Given the description of an element on the screen output the (x, y) to click on. 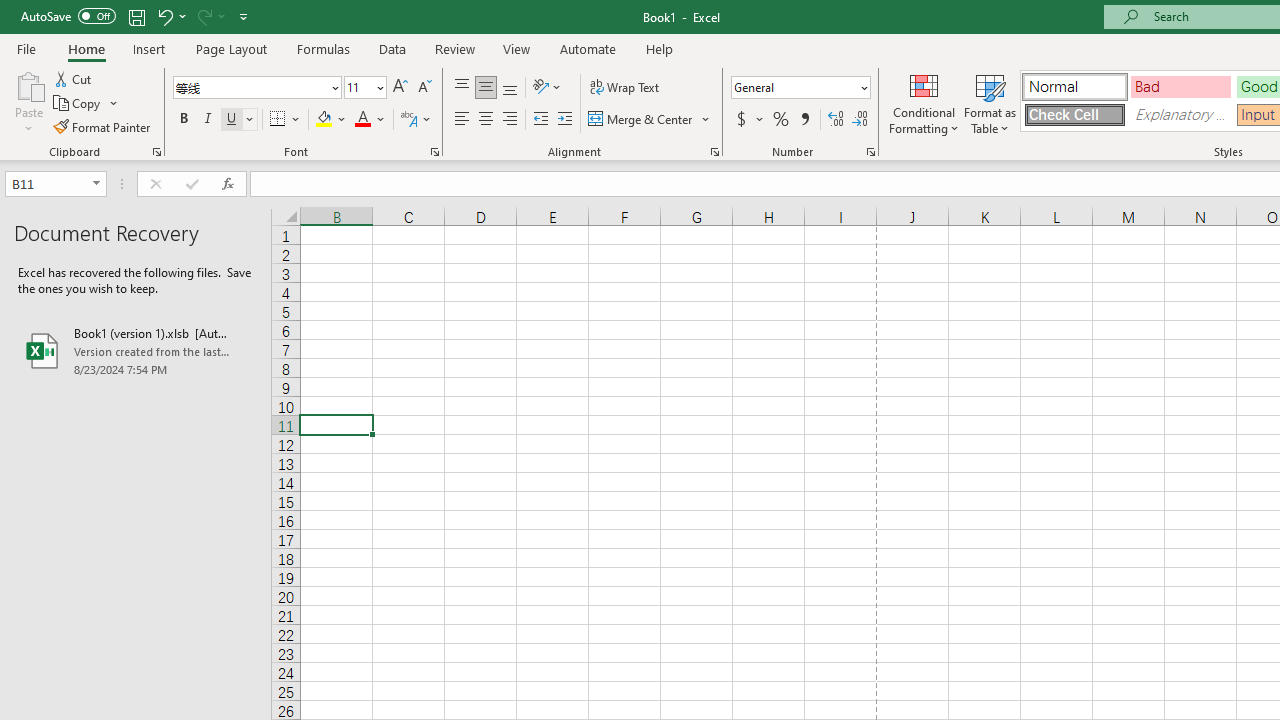
Font Size (365, 87)
Cut (73, 78)
Borders (285, 119)
Orientation (547, 87)
Percent Style (781, 119)
Underline (232, 119)
Comma Style (804, 119)
Decrease Indent (540, 119)
Bottom Border (278, 119)
